Given the description of an element on the screen output the (x, y) to click on. 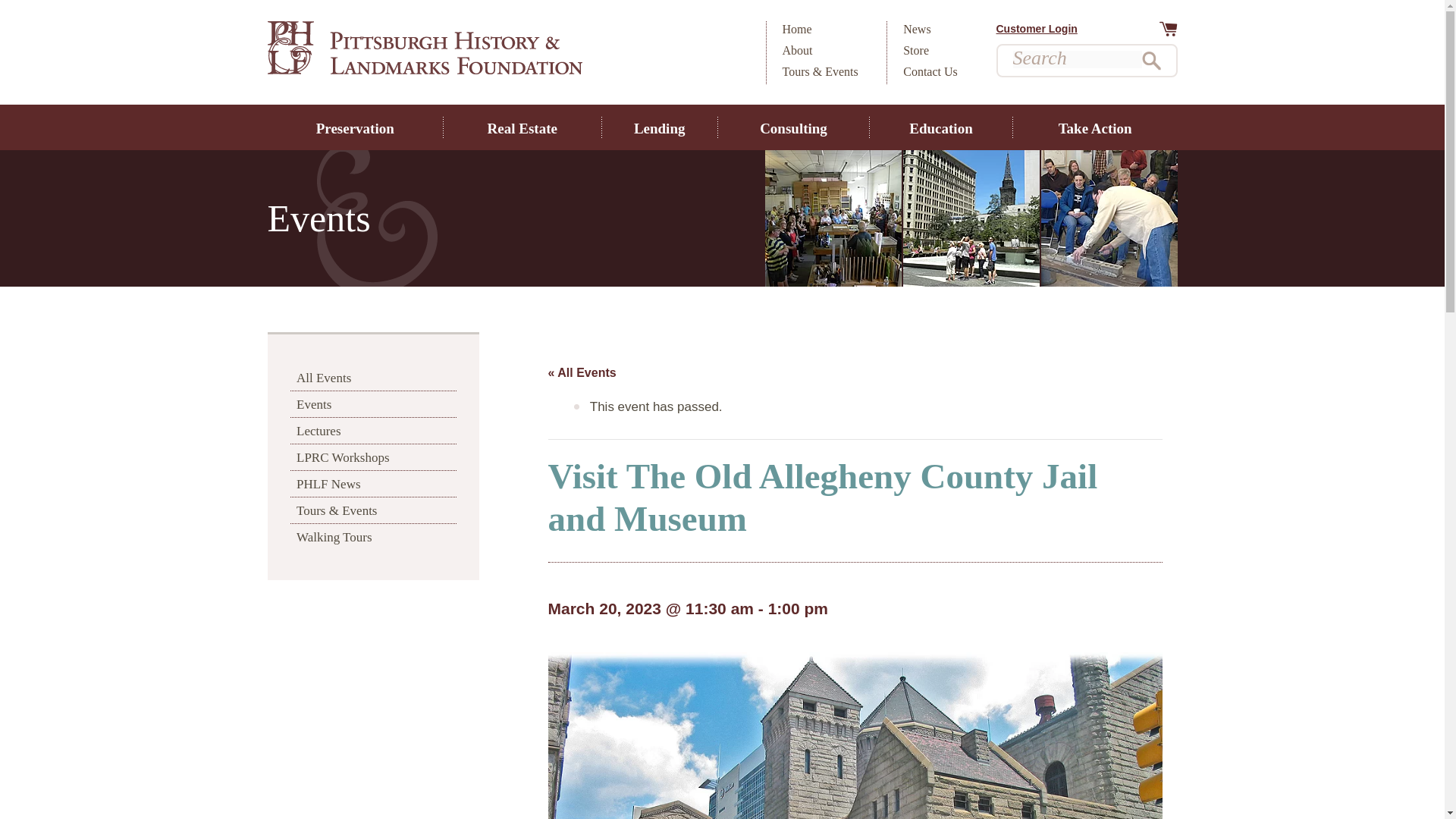
View all posts in Events (373, 403)
View all posts in PHLF News (373, 483)
View all posts in Walking Tours (373, 536)
View all posts in LPRC Workshops (373, 457)
View all posts in Lectures (373, 430)
Search (1150, 60)
Search (1150, 60)
